Given the description of an element on the screen output the (x, y) to click on. 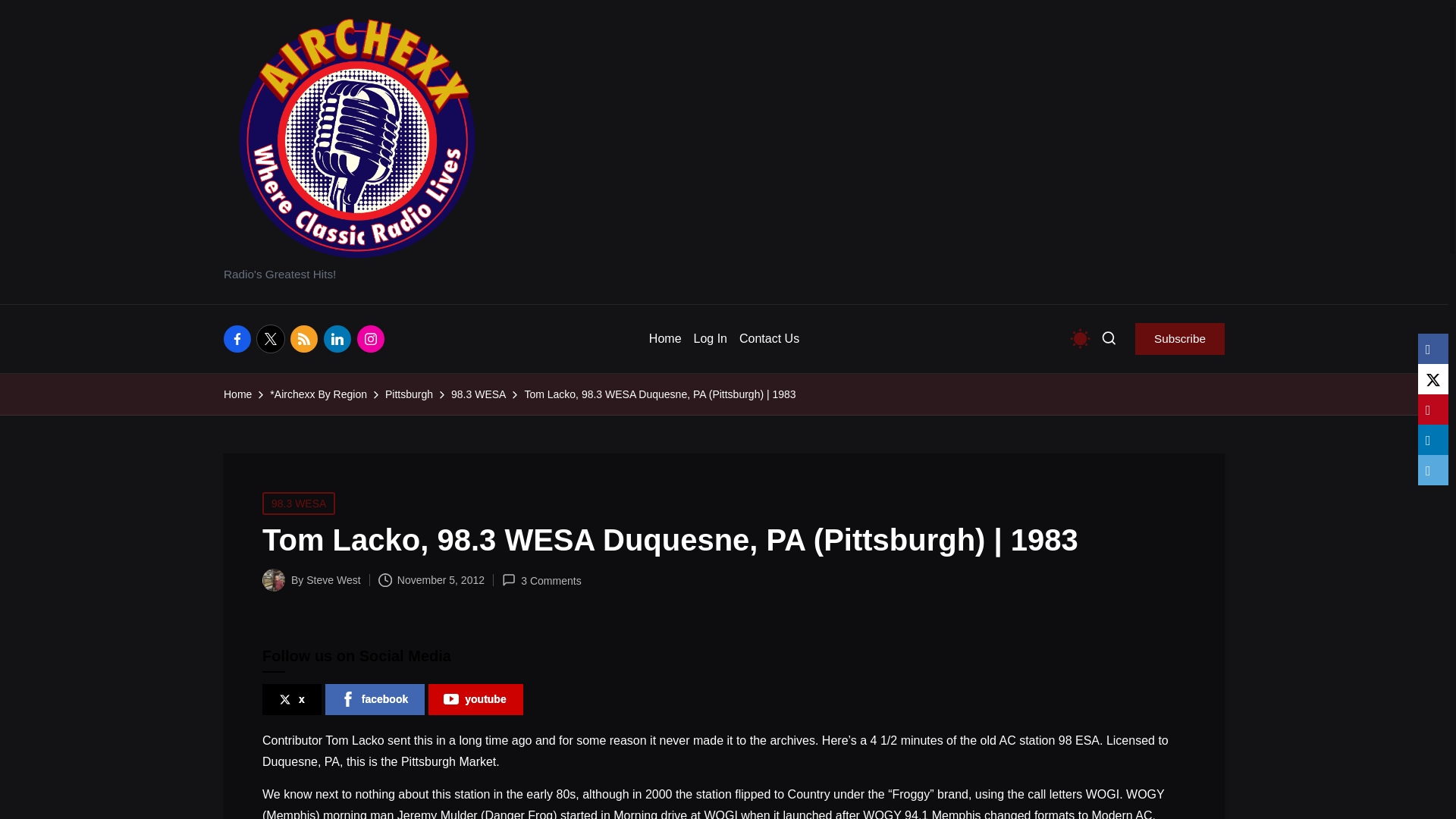
facebook.com (240, 338)
youtube (475, 698)
twitter.com (273, 338)
View all posts by Steve West (332, 580)
x (291, 698)
facebook (374, 698)
3 Comments (541, 580)
Contact Us (769, 338)
instagram.com (373, 338)
rss.com (306, 338)
Pittsburgh (408, 394)
98.3 WESA (478, 394)
Subscribe (1179, 338)
linkedin.com (339, 338)
Steve West (332, 580)
